Given the description of an element on the screen output the (x, y) to click on. 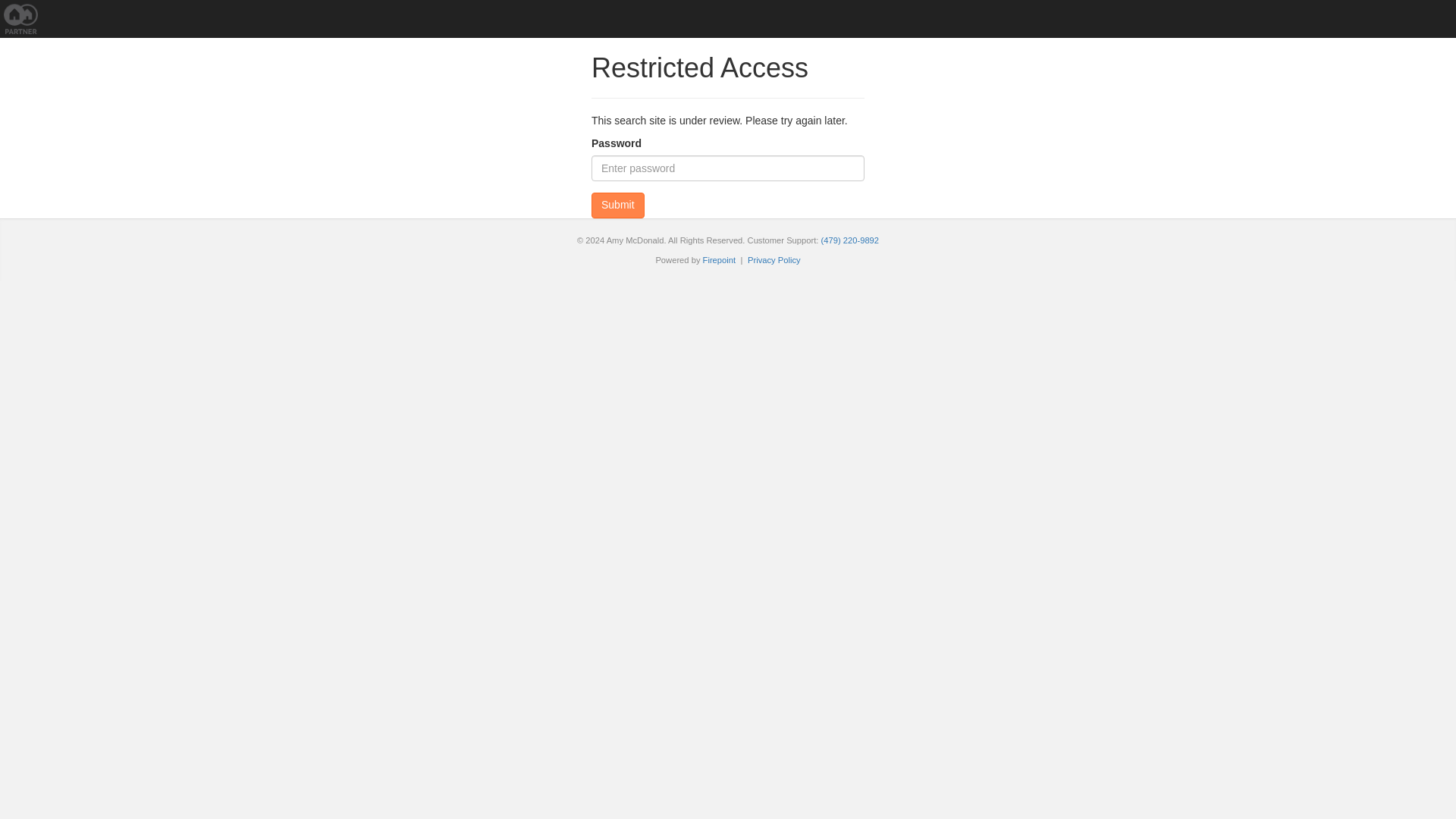
Submit (618, 205)
Firepoint (719, 259)
Privacy Policy (774, 259)
